Given the description of an element on the screen output the (x, y) to click on. 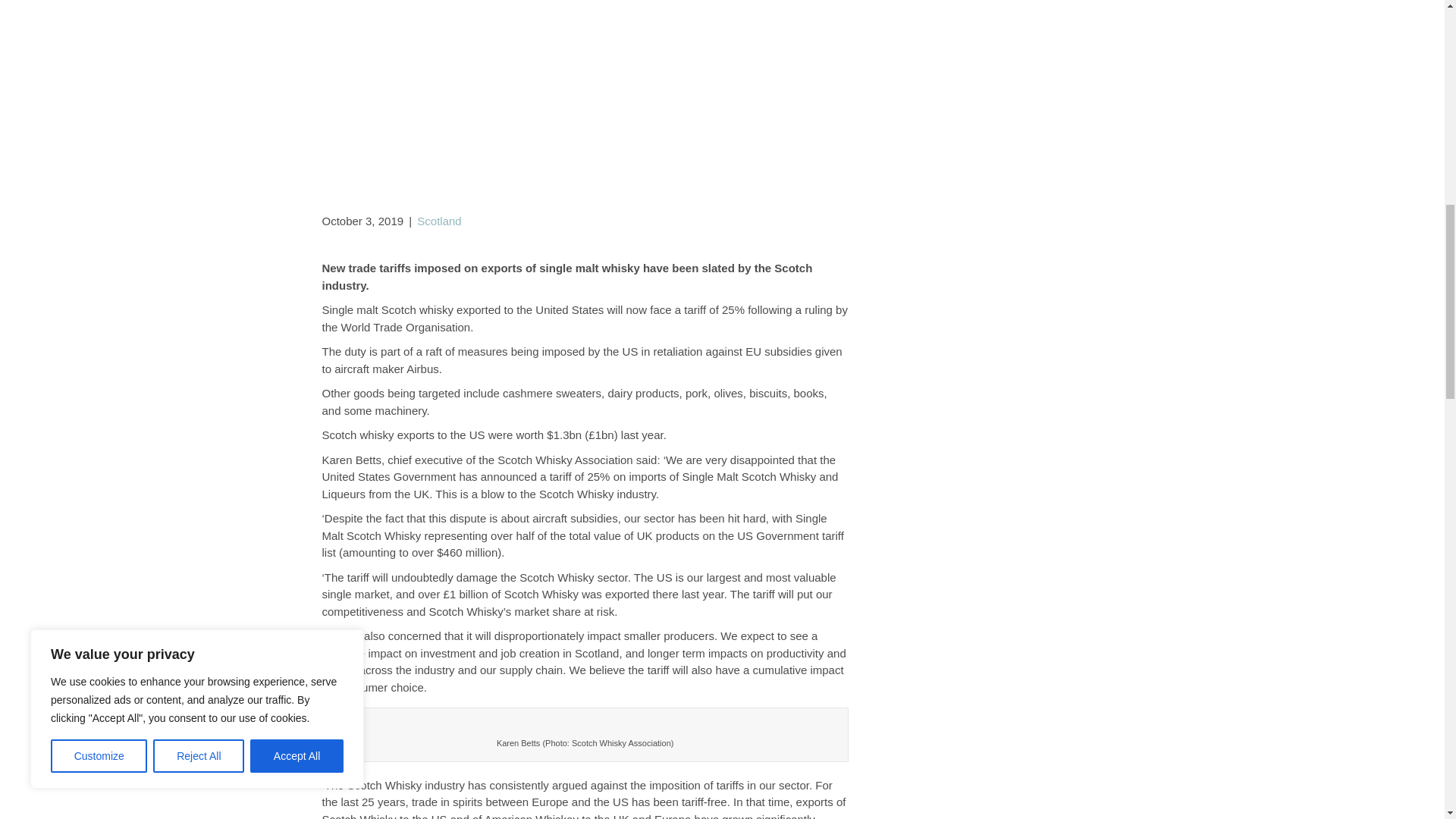
3rd party ad content (722, 79)
